Given the description of an element on the screen output the (x, y) to click on. 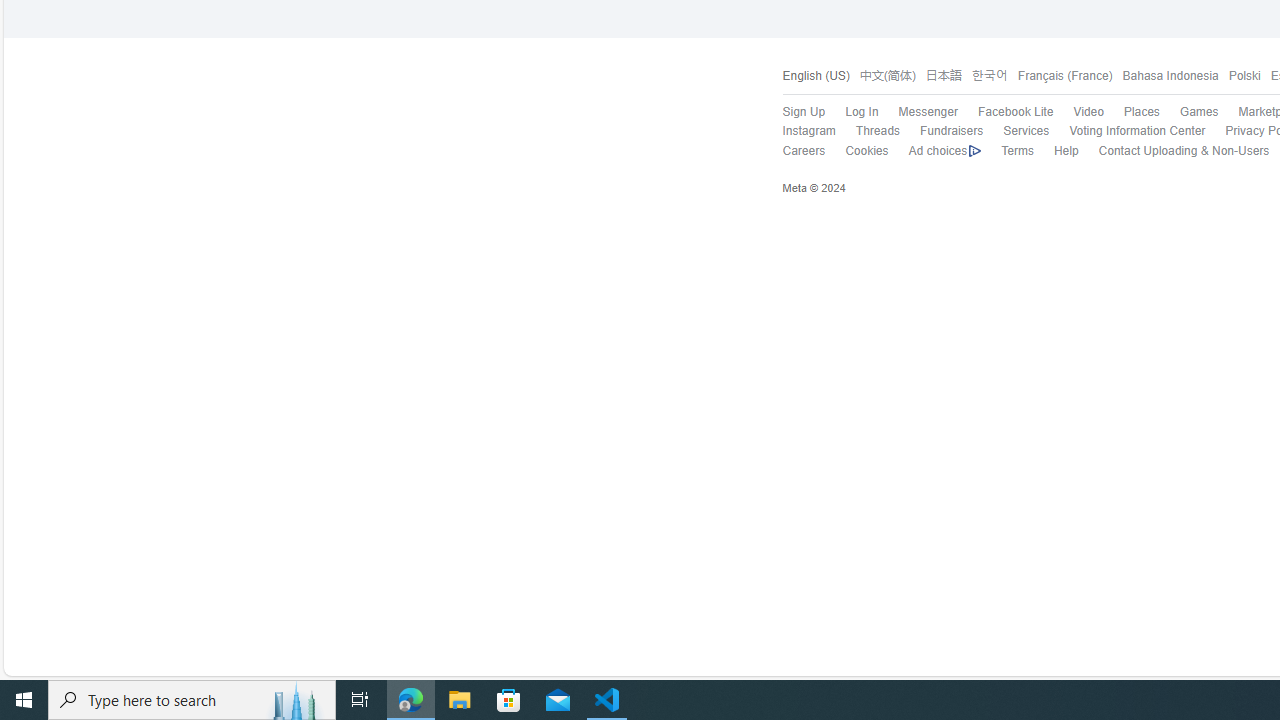
Polski (1239, 75)
Sign Up (793, 112)
Instagram (798, 131)
